Given the description of an element on the screen output the (x, y) to click on. 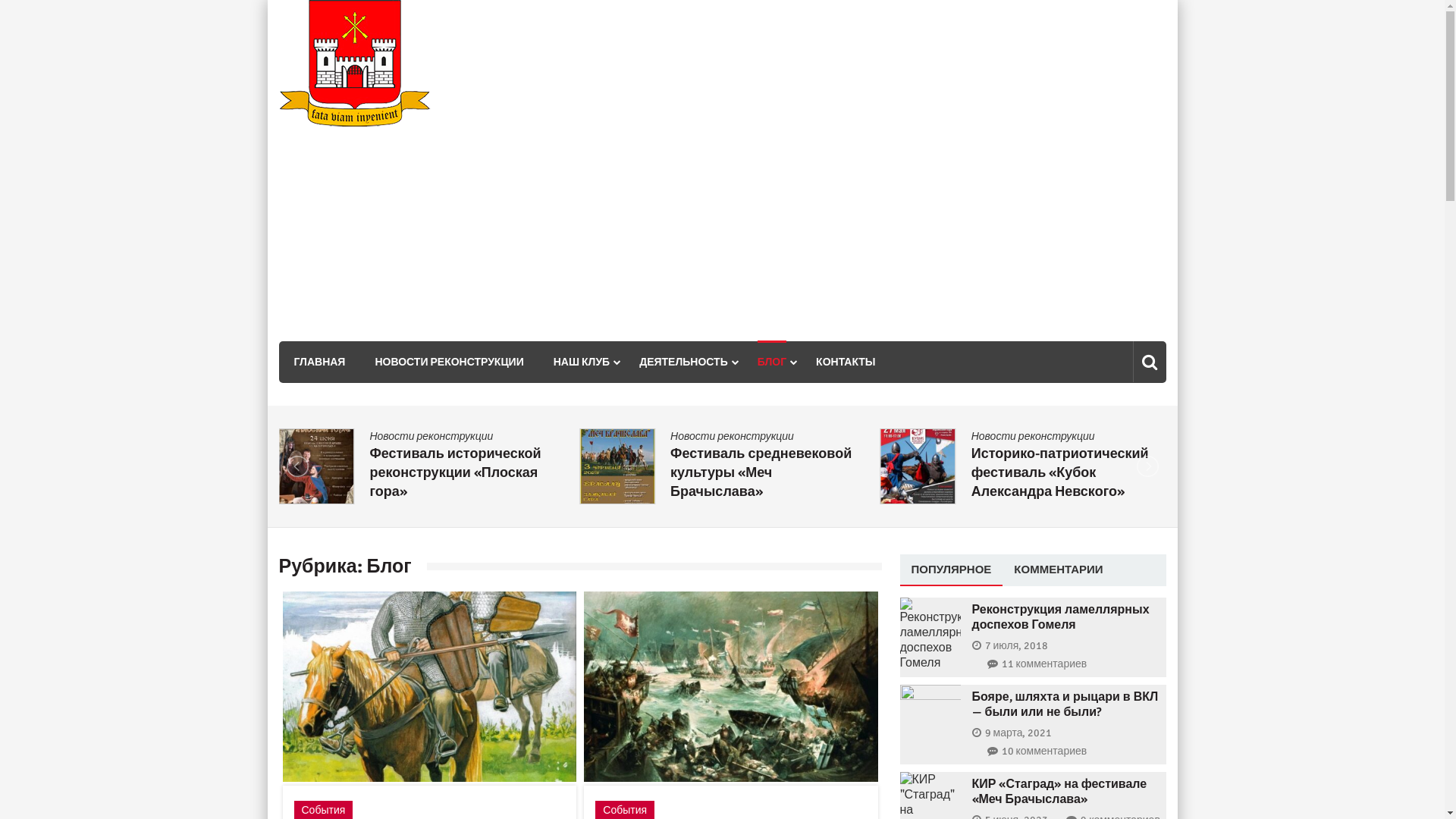
English Element type: hover (1111, 65)
Belarusian Element type: hover (1091, 65)
Russian Element type: hover (1131, 65)
Ukrainian Element type: hover (1151, 65)
